Given the description of an element on the screen output the (x, y) to click on. 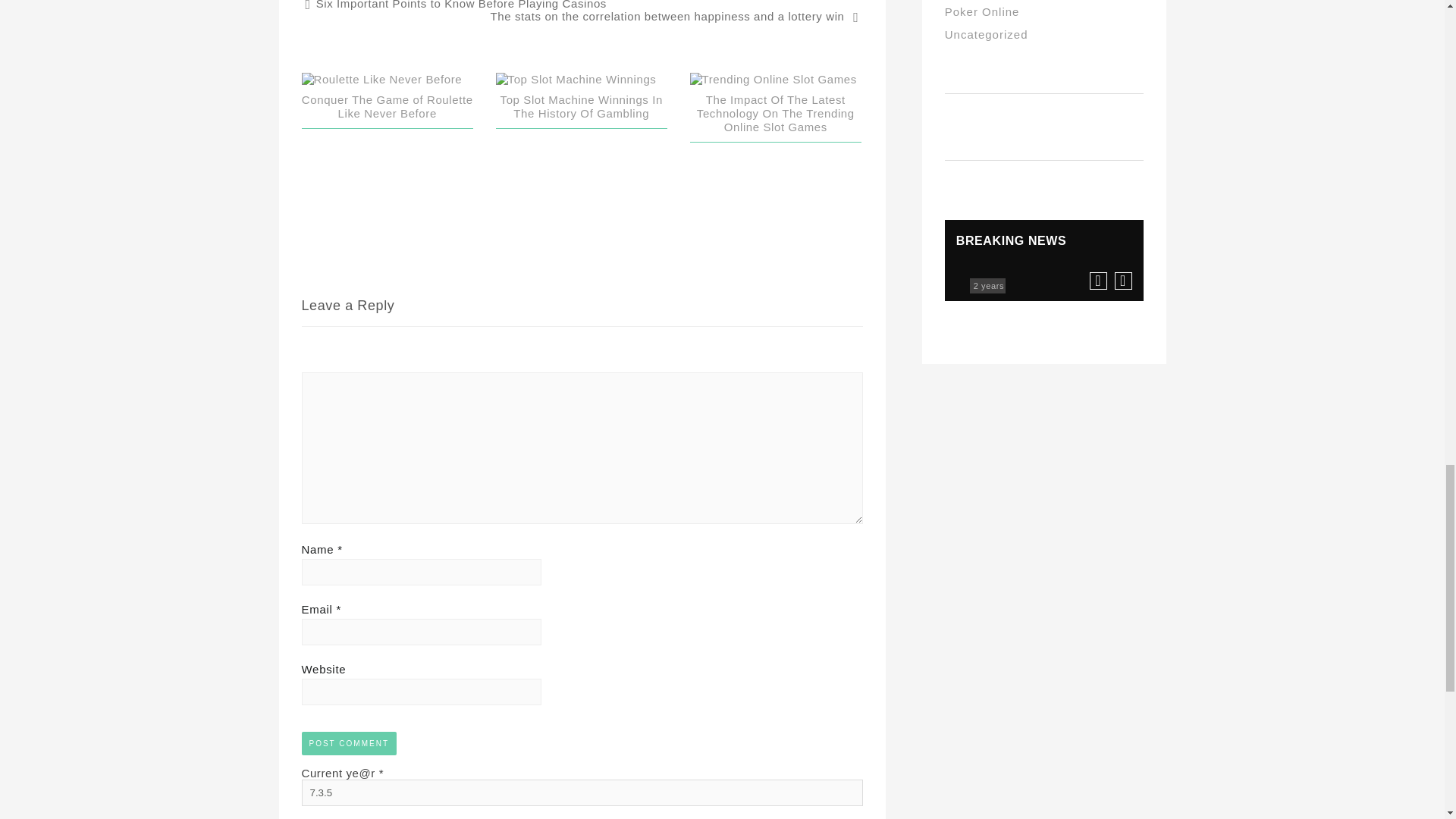
Post Comment (348, 743)
Post Comment (348, 743)
Six Important Points to Know Before Playing Casinos (455, 10)
7.3.5 (582, 792)
Top Slot Machine Winnings In The History Of Gambling (581, 106)
Conquer The Game of Roulette Like Never Before (387, 106)
